Given the description of an element on the screen output the (x, y) to click on. 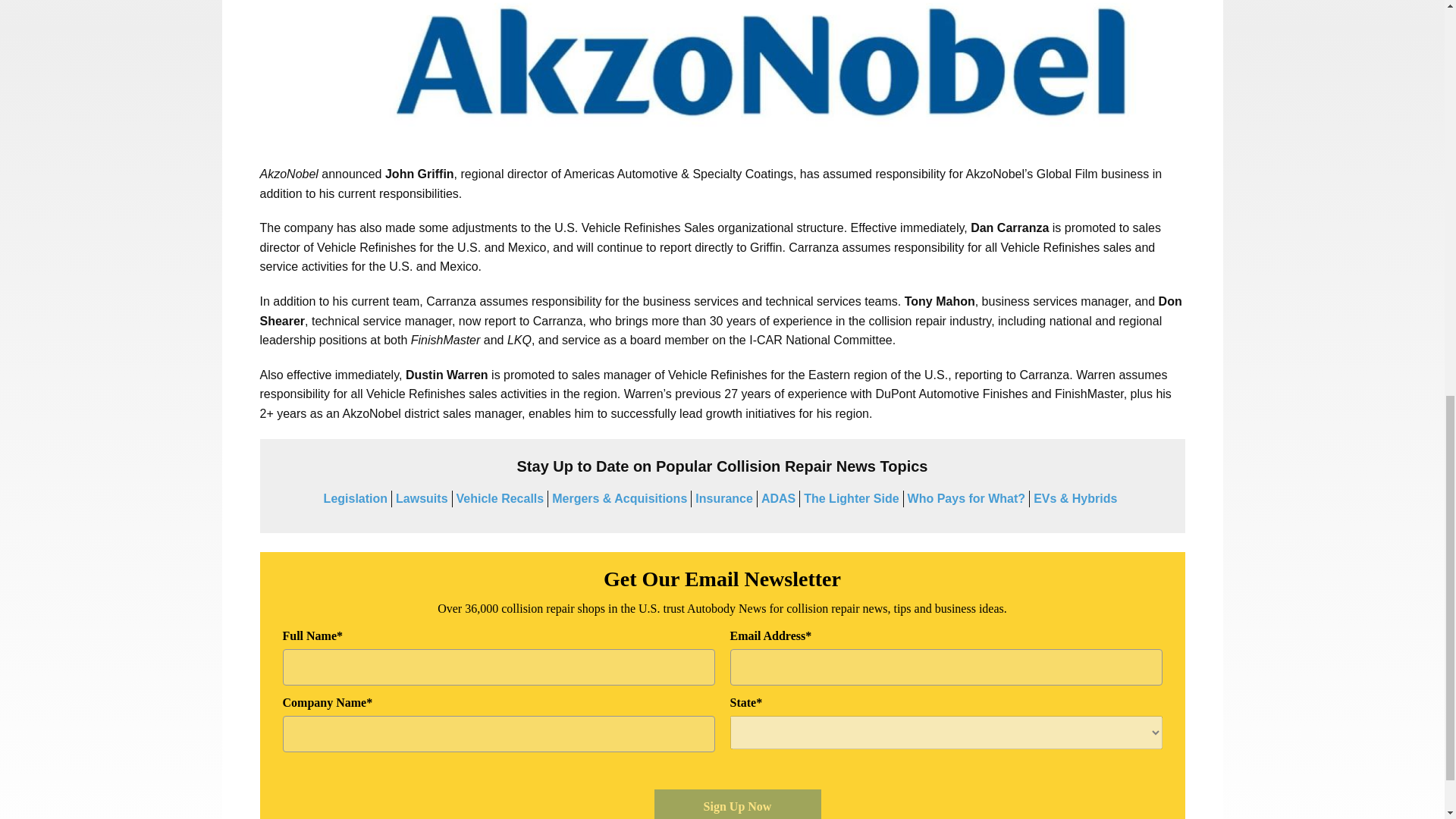
Lawsuits (421, 498)
The Lighter Side (850, 498)
Legislation (355, 498)
Insurance (723, 498)
Vehicle Recalls (500, 498)
Who Pays for What? (966, 498)
ADAS (777, 498)
